Given the description of an element on the screen output the (x, y) to click on. 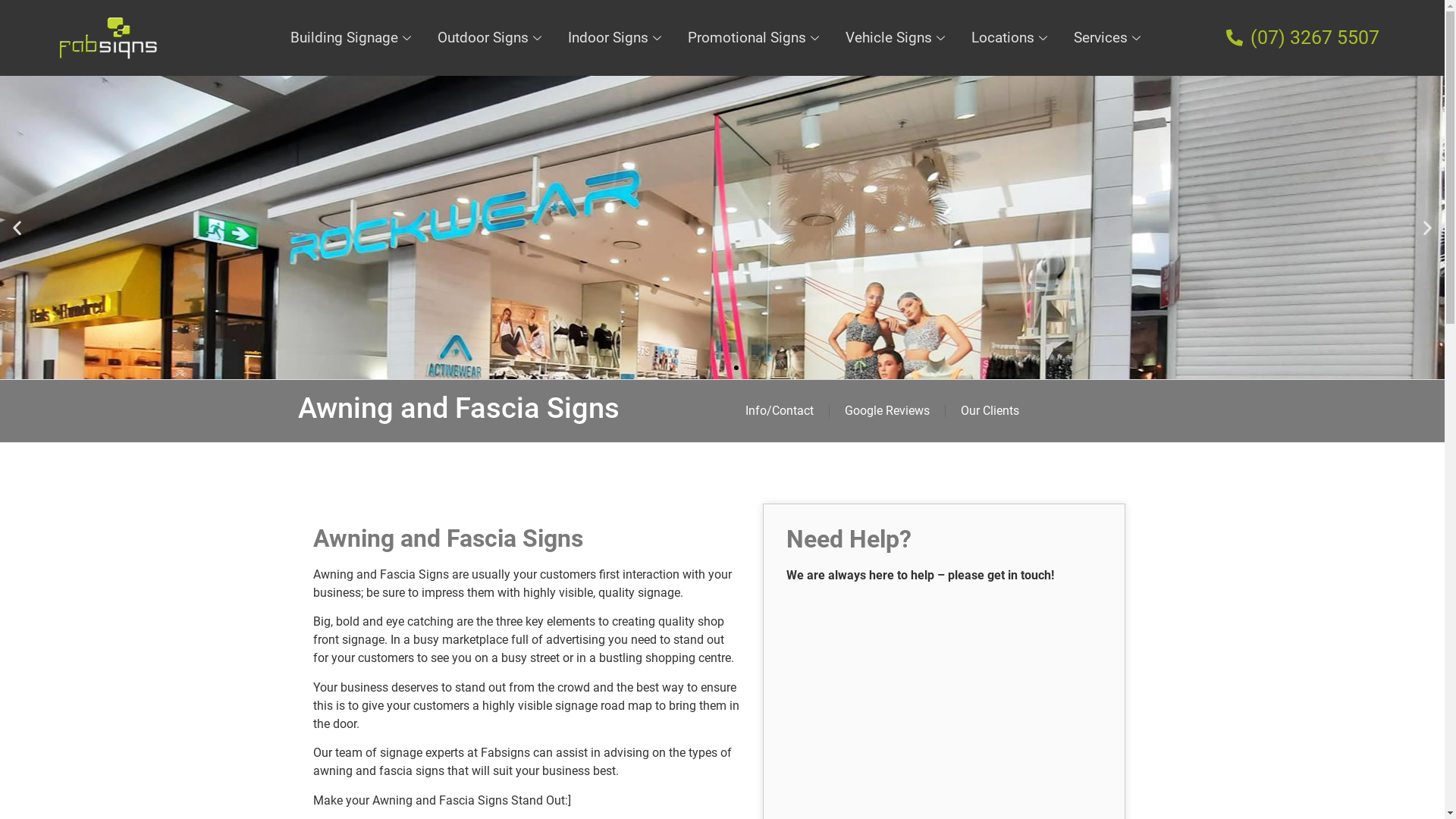
Indoor Signs Element type: text (616, 37)
Info/Contact Element type: text (778, 410)
(07) 3267 5507 Element type: text (1326, 37)
Our Clients Element type: text (988, 410)
Vehicle Signs Element type: text (897, 37)
Building Signage Element type: text (352, 37)
Promotional Signs Element type: text (755, 37)
Locations Element type: text (1011, 37)
Outdoor Signs Element type: text (491, 37)
Google Reviews Element type: text (886, 410)
Services Element type: text (1108, 37)
